Given the description of an element on the screen output the (x, y) to click on. 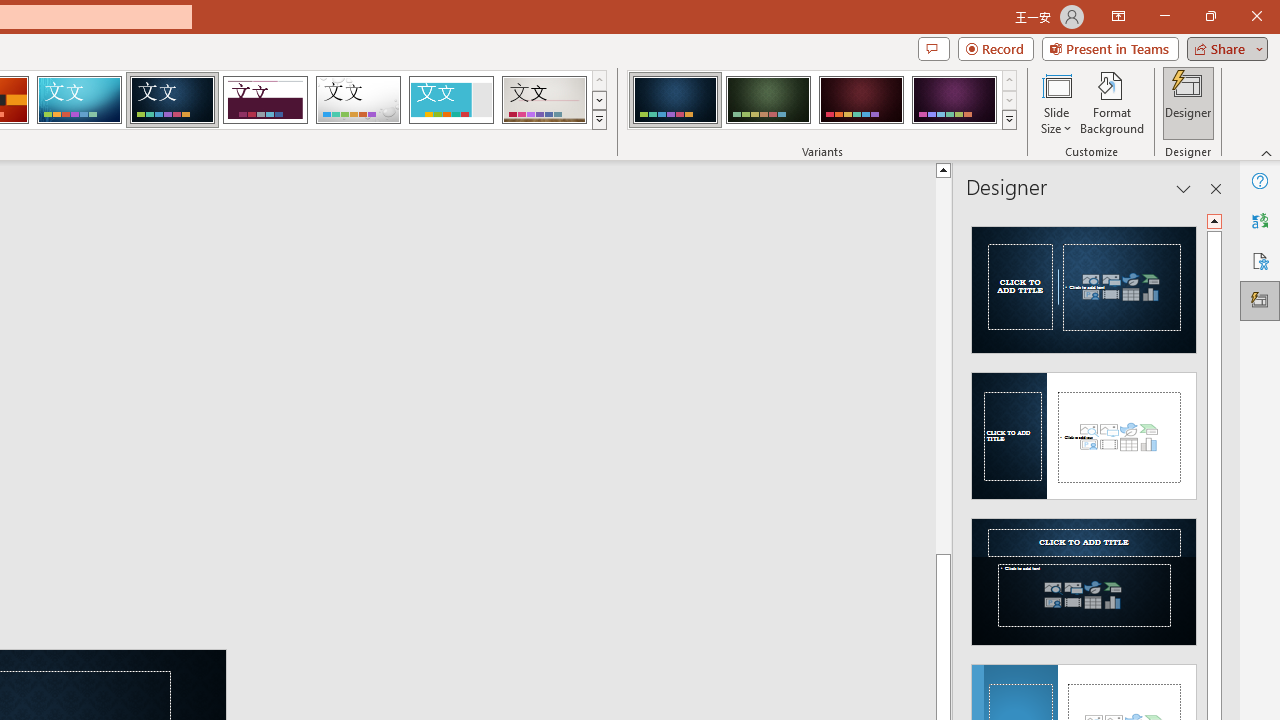
Droplet (358, 100)
Damask (171, 100)
Frame (450, 100)
AutomationID: ThemeVariantsGallery (822, 99)
